Given the description of an element on the screen output the (x, y) to click on. 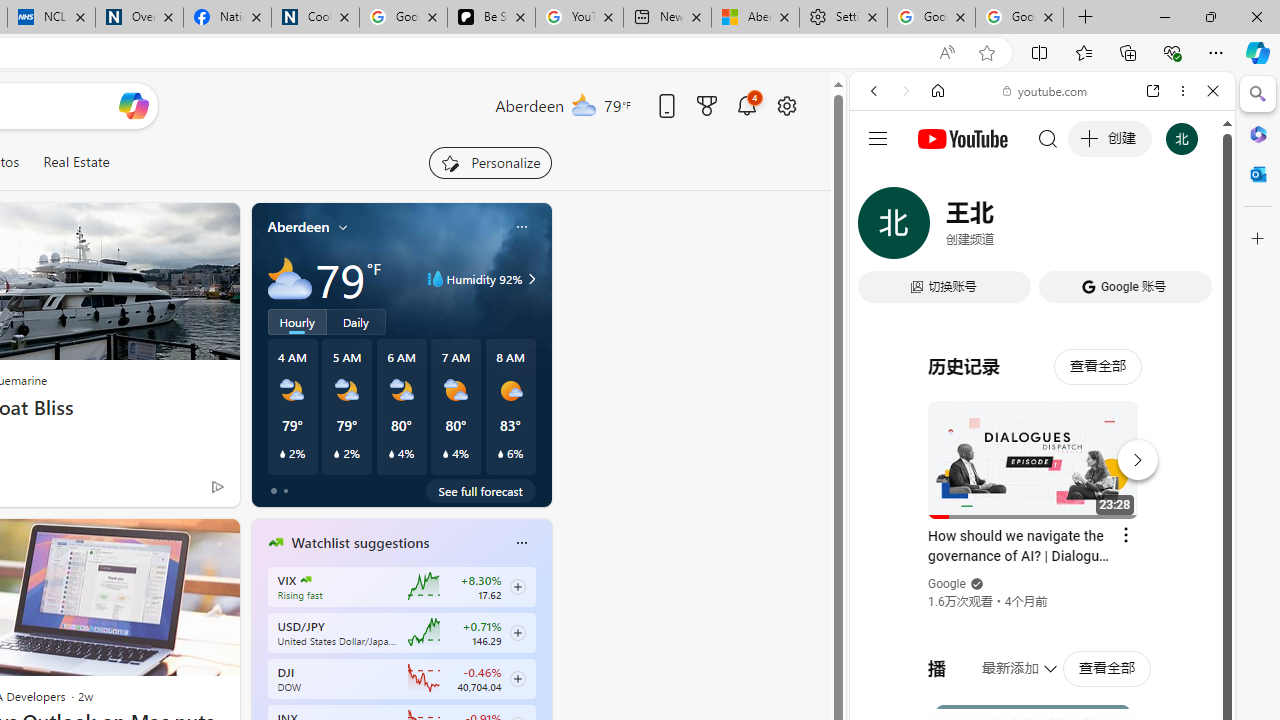
Ad Choice (217, 485)
Open settings (786, 105)
Microsoft 365 (1258, 133)
Microsoft rewards (707, 105)
previous (261, 670)
Class: weather-current-precipitation-glyph (500, 453)
More options (1182, 91)
Search Filter, Search Tools (1093, 228)
